Given the description of an element on the screen output the (x, y) to click on. 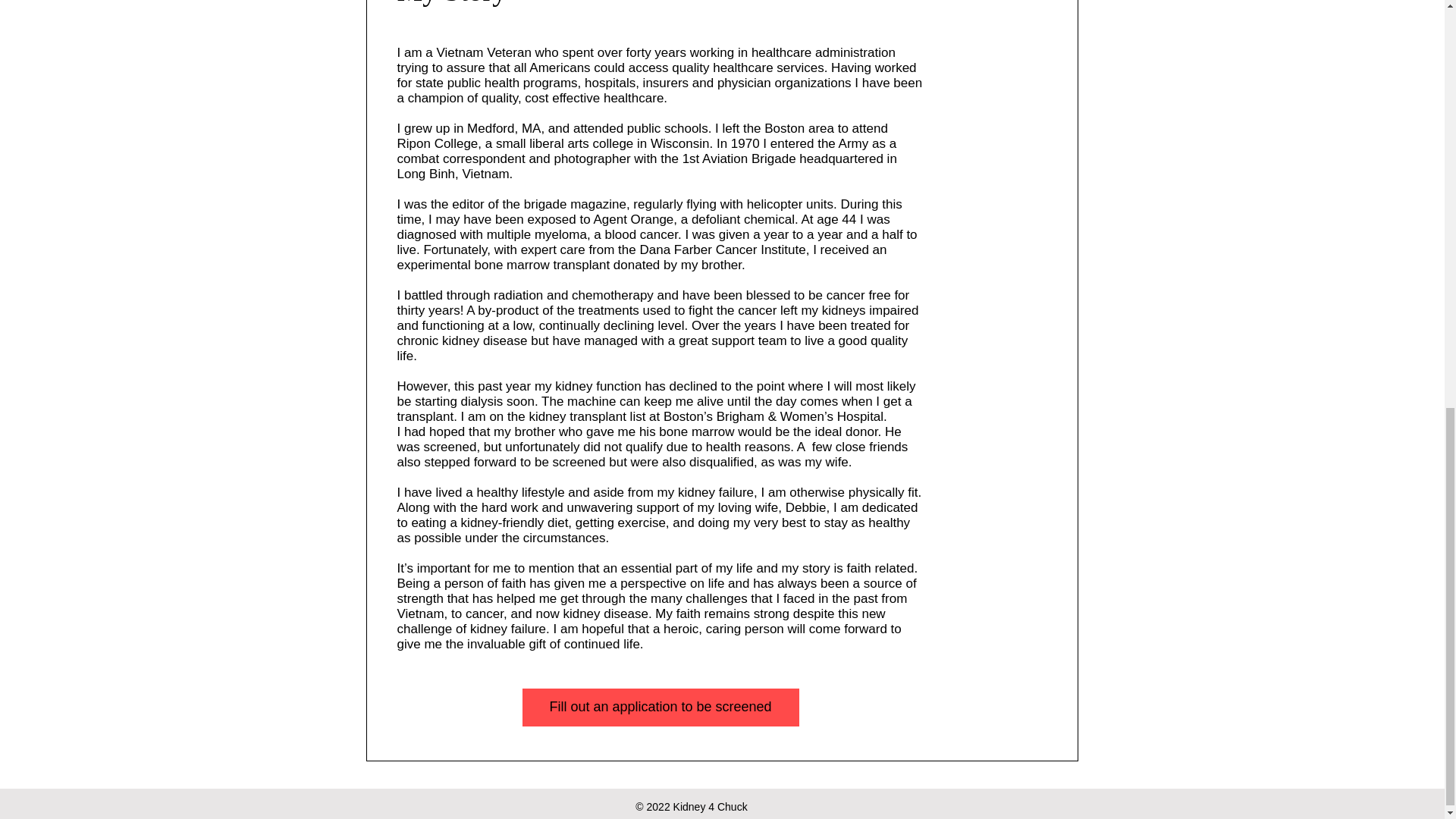
Fill out an application to be screened (659, 707)
